Given the description of an element on the screen output the (x, y) to click on. 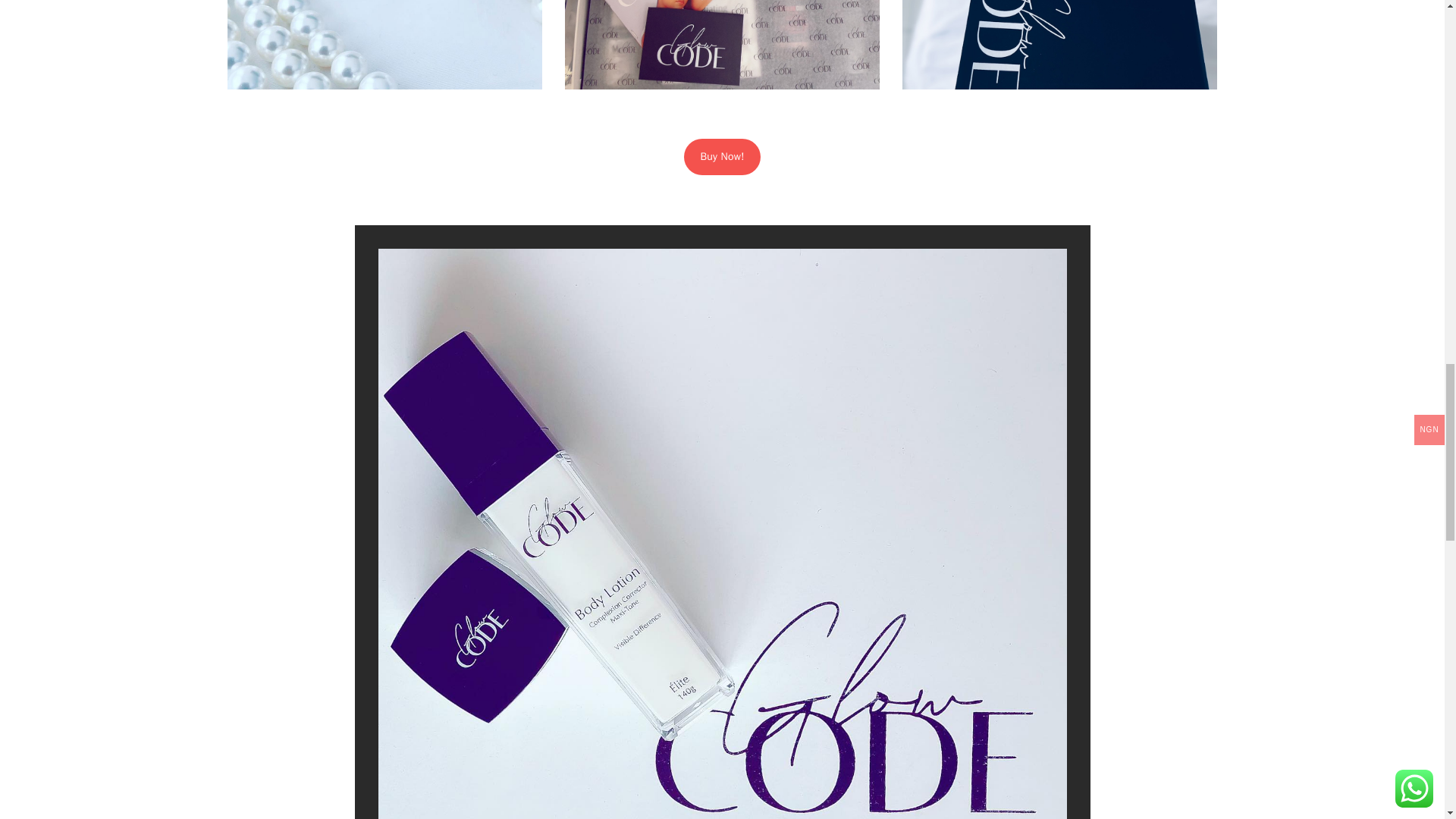
glow-code-3 (384, 44)
glow-code-2 (1059, 44)
glow-code-1 (721, 44)
Buy Now! (722, 156)
Buy Now! (722, 156)
